Given the description of an element on the screen output the (x, y) to click on. 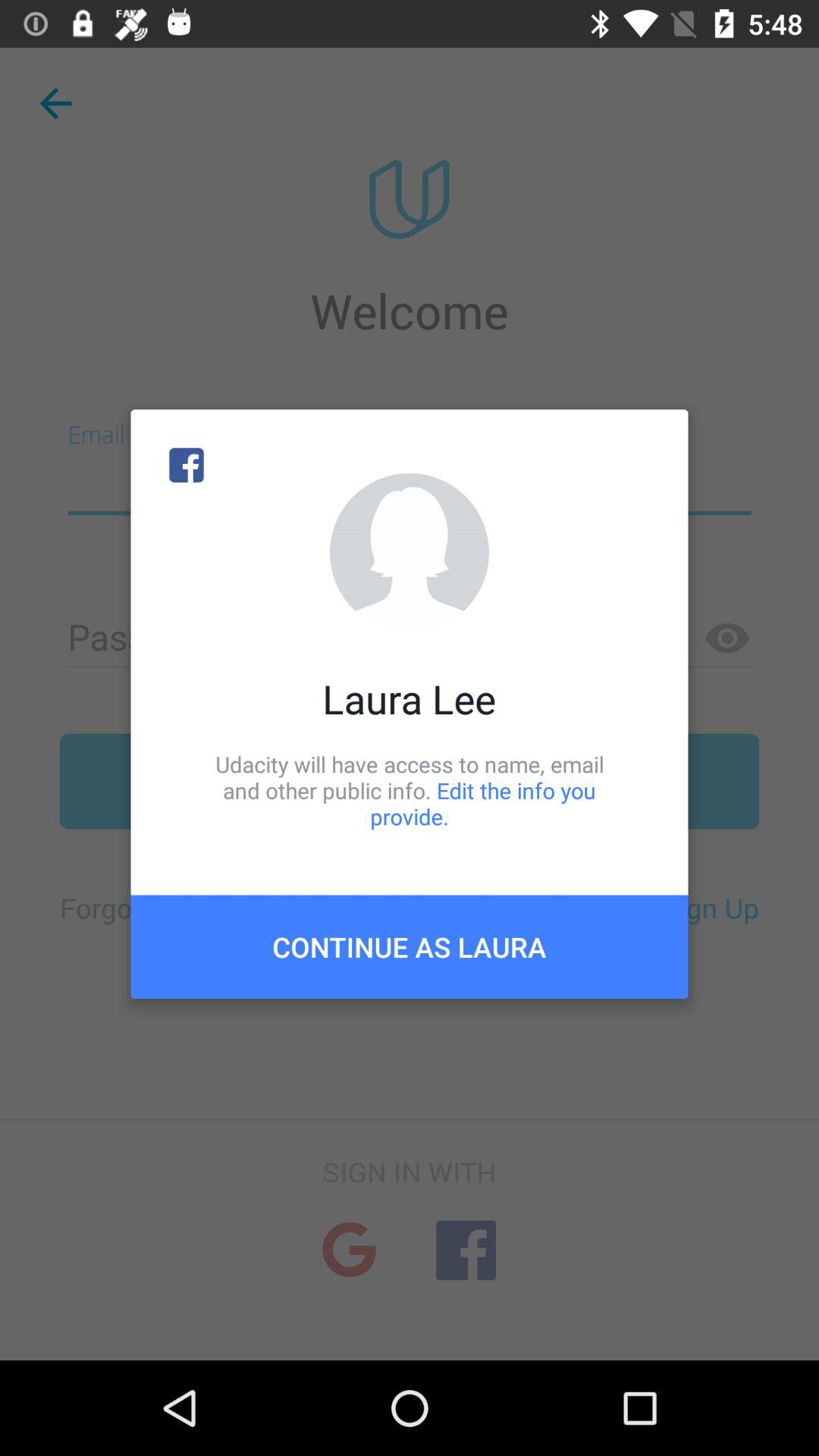
swipe until the continue as laura icon (409, 946)
